Given the description of an element on the screen output the (x, y) to click on. 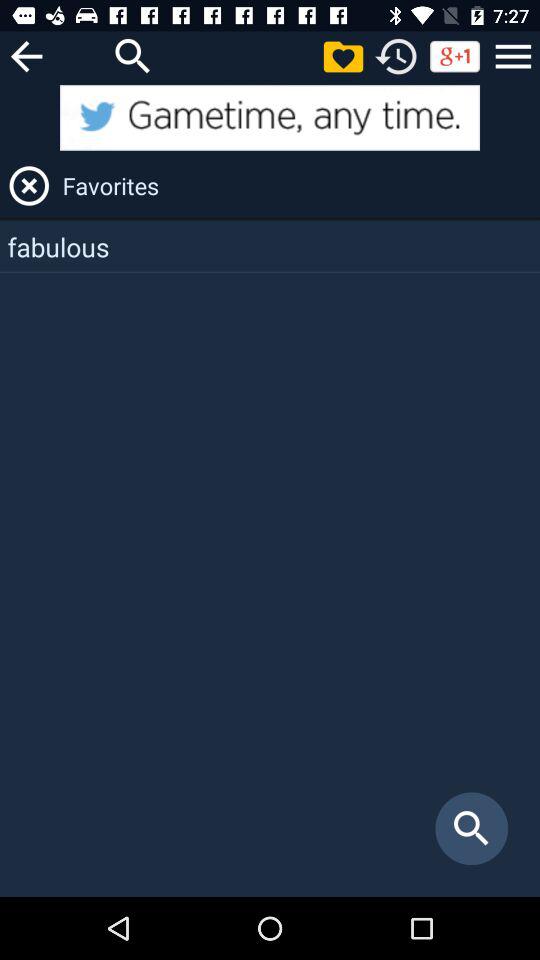
close favourites (29, 185)
